Given the description of an element on the screen output the (x, y) to click on. 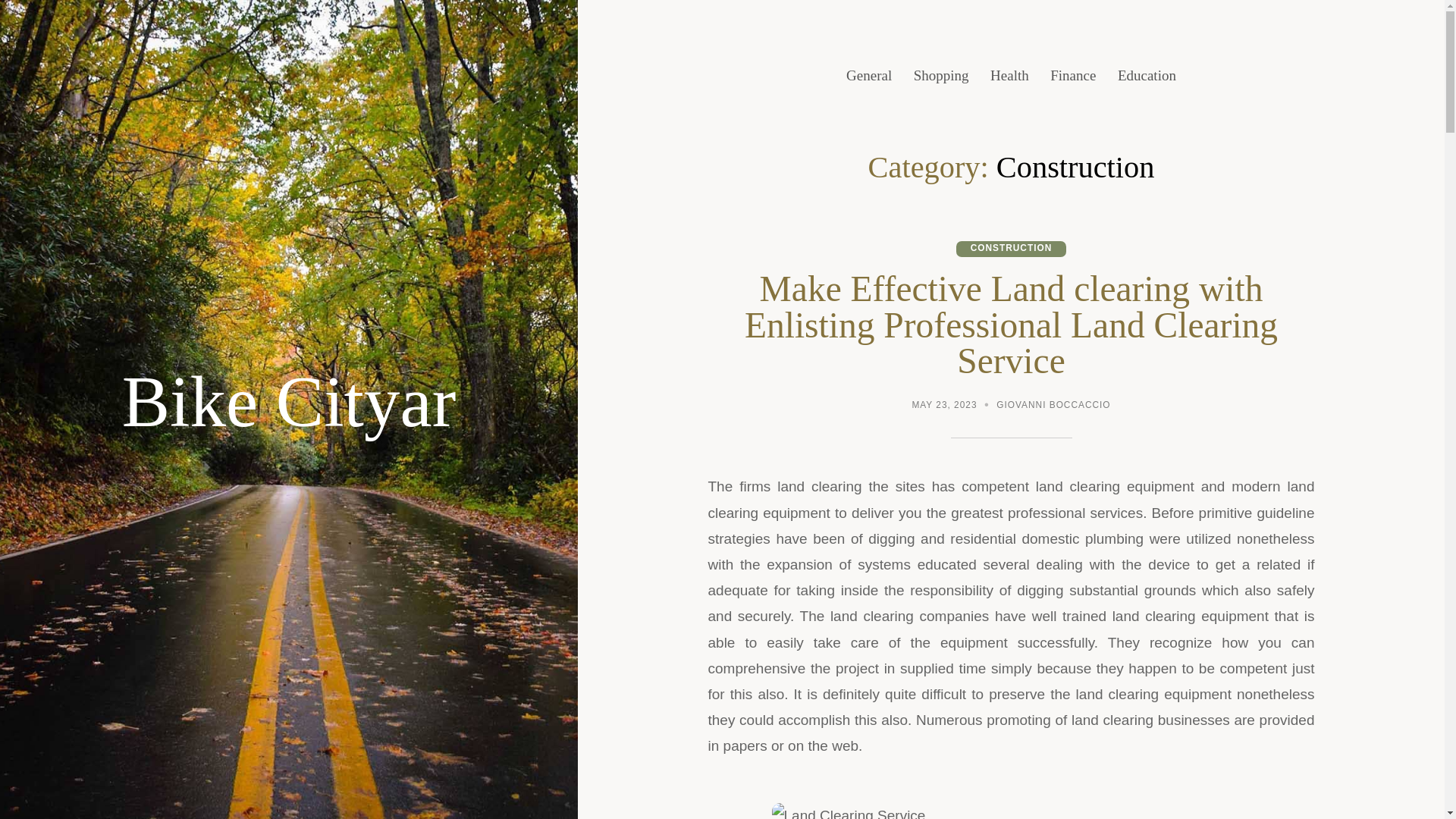
Finance (1072, 76)
Education (1147, 76)
CONSTRUCTION (1011, 248)
Health (1009, 76)
Bike Cityar (289, 402)
Shopping (941, 76)
GIOVANNI BOCCACCIO (1052, 406)
MAY 23, 2023 (943, 406)
General (868, 76)
